Given the description of an element on the screen output the (x, y) to click on. 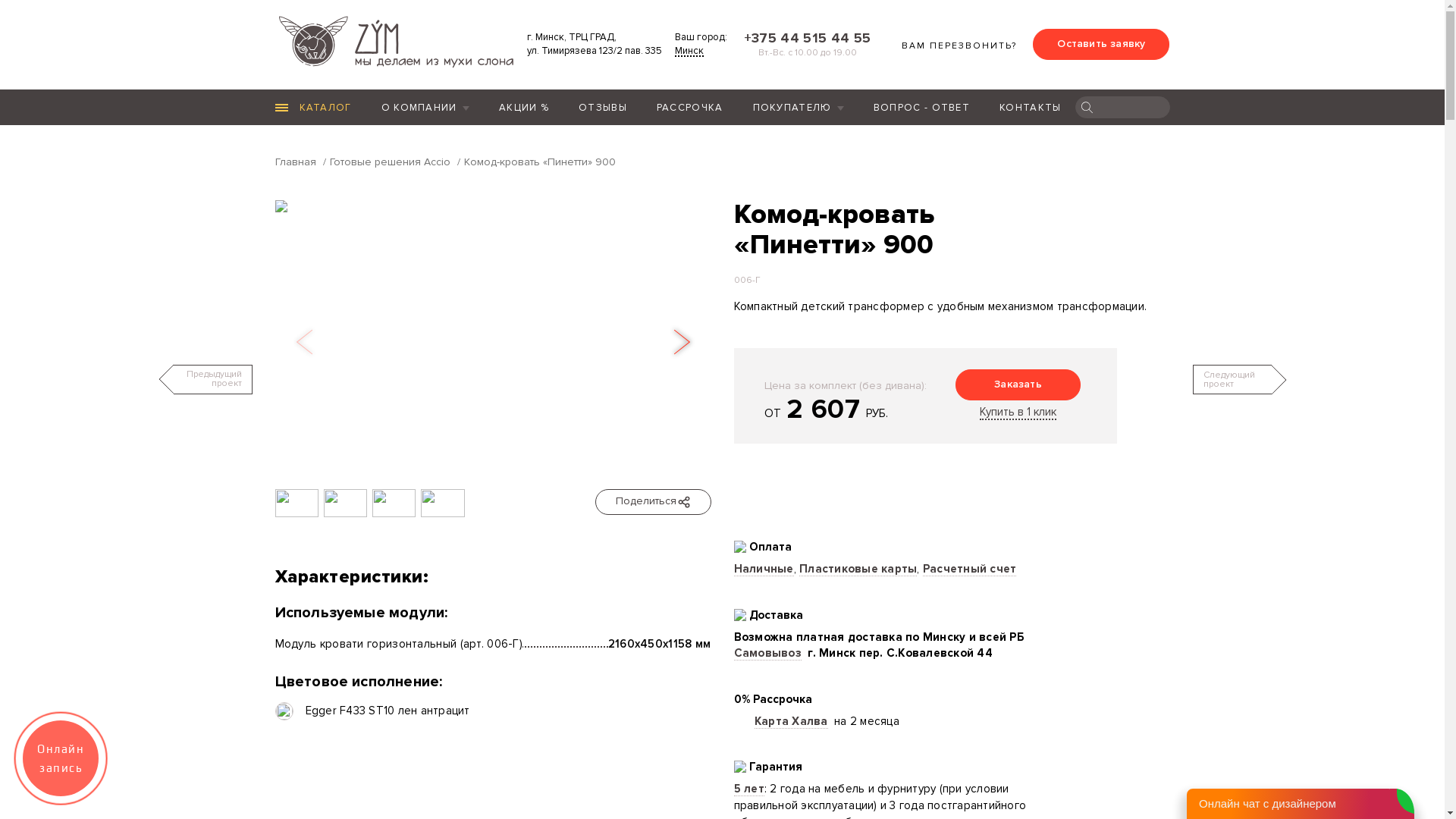
+375 44 515 44 55 Element type: text (804, 37)
